Given the description of an element on the screen output the (x, y) to click on. 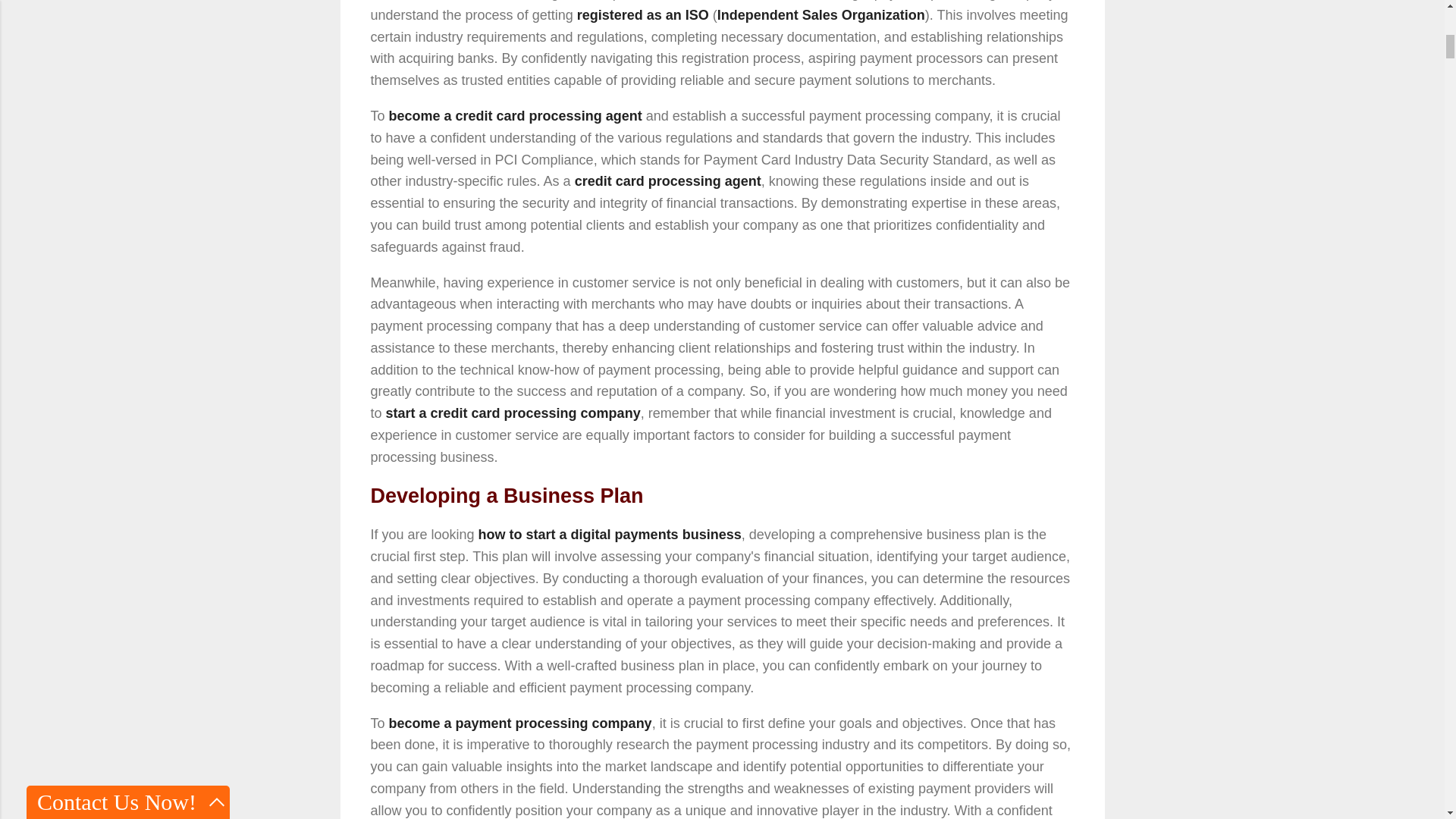
Independent Sales Organization (820, 14)
start a credit card processing company (512, 412)
become a credit card processing agent (515, 115)
registered as an ISO (642, 14)
become a payment processing company (520, 723)
credit card processing agent (668, 181)
how to start a digital payments business (610, 534)
